Given the description of an element on the screen output the (x, y) to click on. 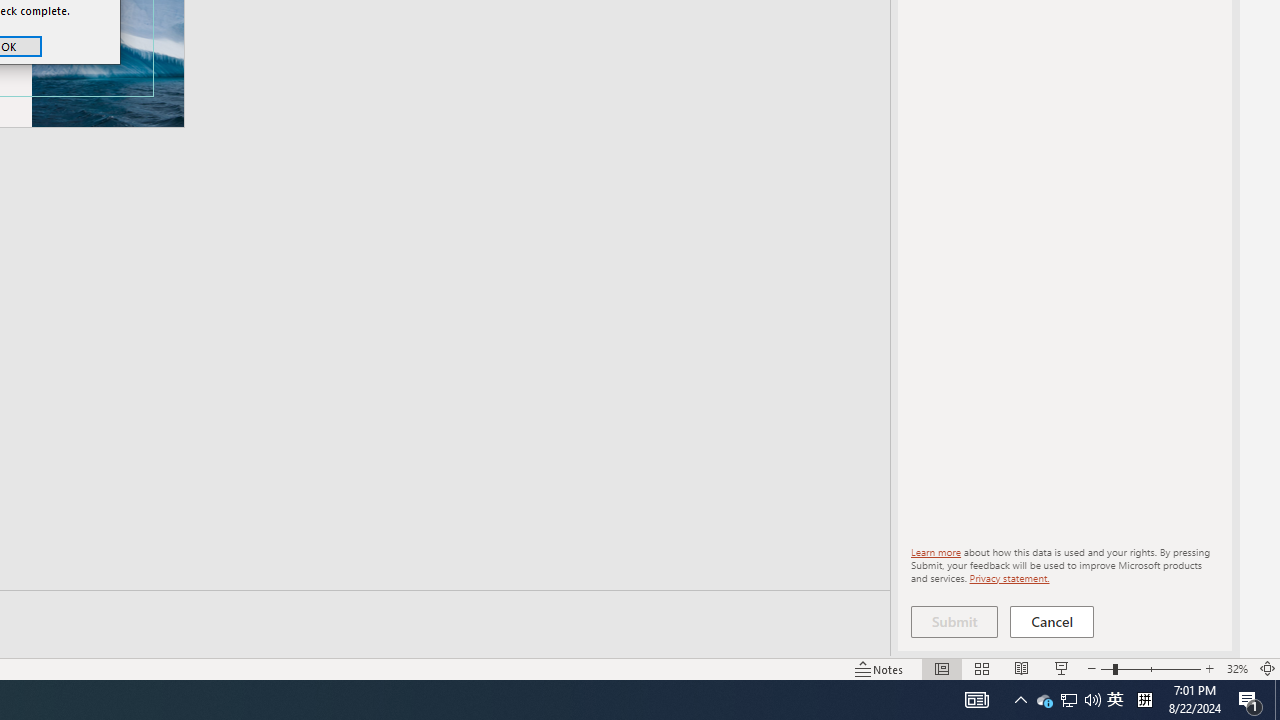
Submit (954, 621)
Action Center, 1 new notification (1250, 699)
Zoom 32% (1236, 668)
Cancel (1051, 621)
